Given the description of an element on the screen output the (x, y) to click on. 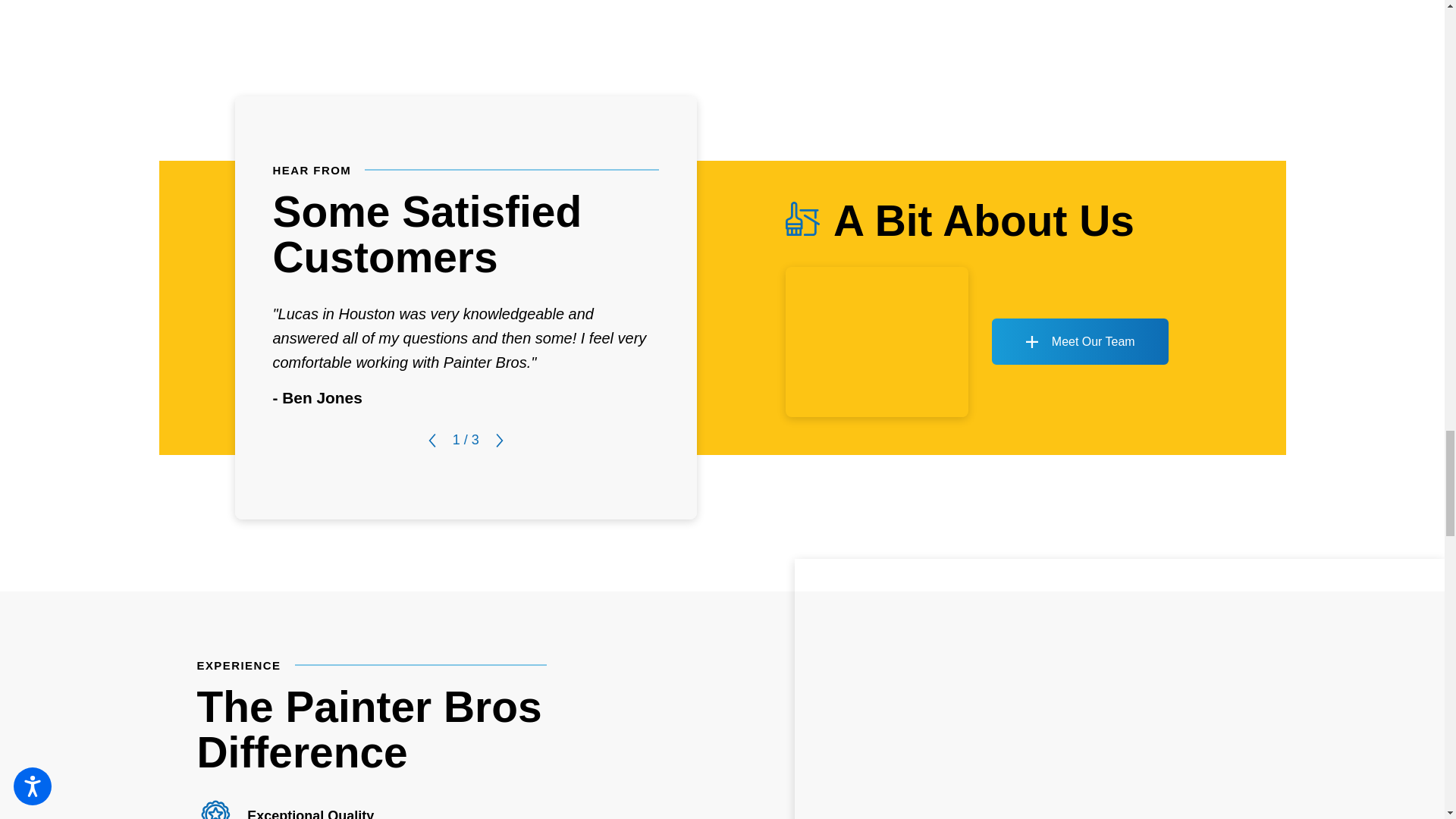
View previous item (432, 440)
View next item (499, 440)
